Given the description of an element on the screen output the (x, y) to click on. 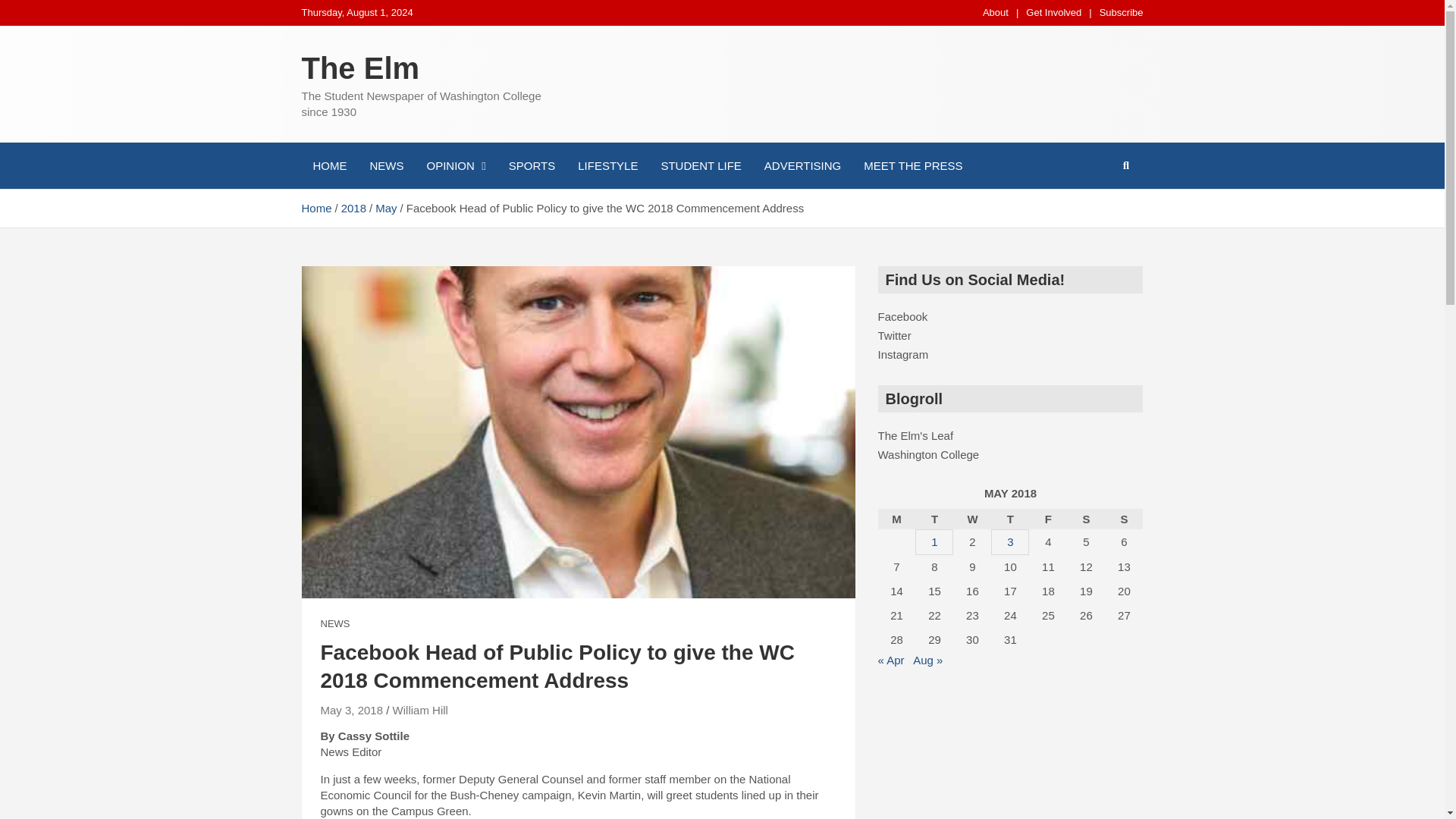
OPINION (455, 165)
3 (1010, 542)
The Elm's Leaf (915, 435)
Tuesday (934, 518)
The Elm (360, 68)
Instagram (902, 354)
May (385, 207)
About (995, 12)
1 (934, 542)
LIFESTYLE (607, 165)
Washington College (928, 454)
Friday (1048, 518)
May 3, 2018 (351, 709)
ADVERTISING (801, 165)
Monday (896, 518)
